Given the description of an element on the screen output the (x, y) to click on. 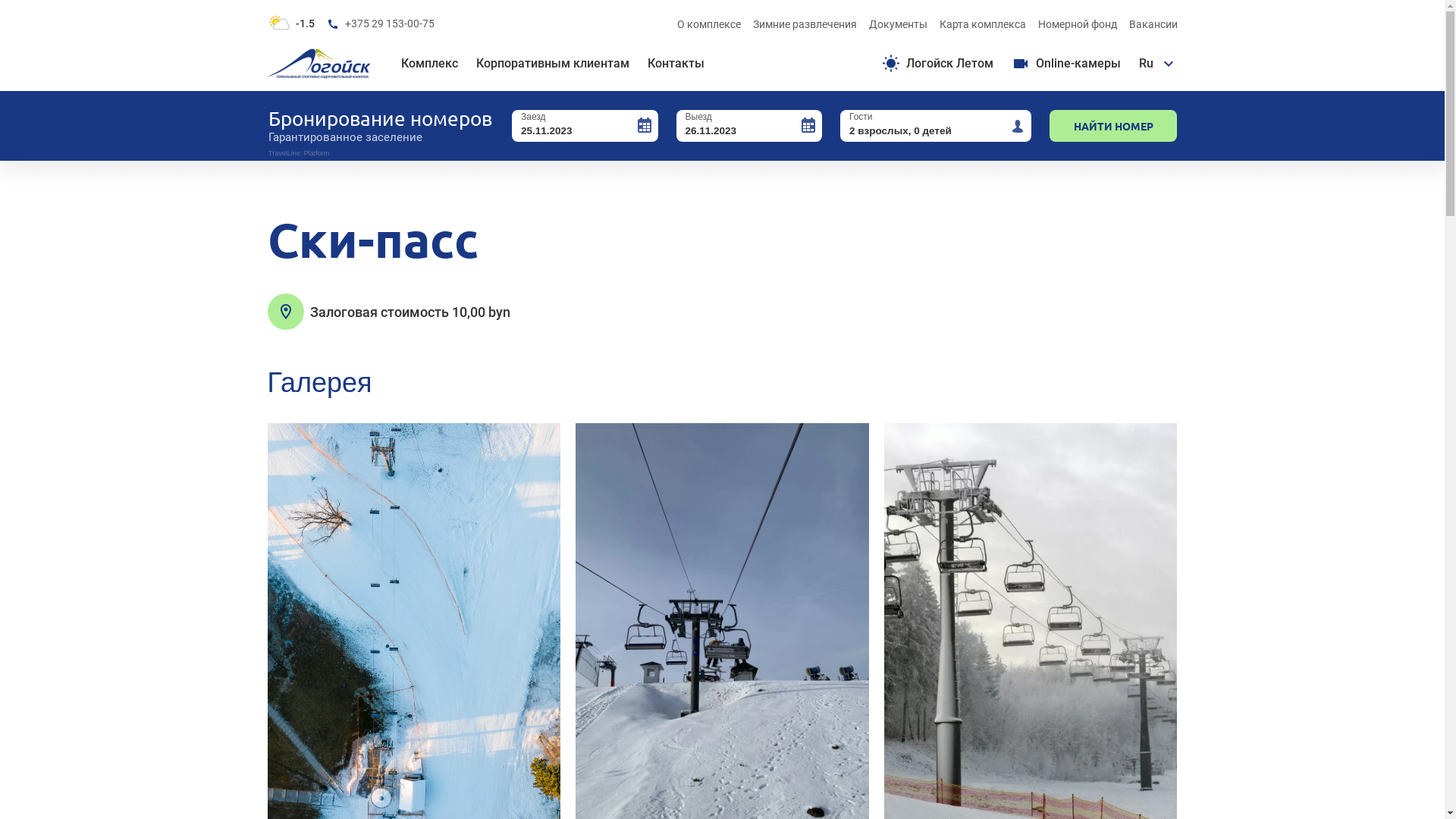
+375 29 153-00-75 Element type: text (379, 24)
img Element type: hover (285, 311)
Ru Element type: text (1158, 63)
